Given the description of an element on the screen output the (x, y) to click on. 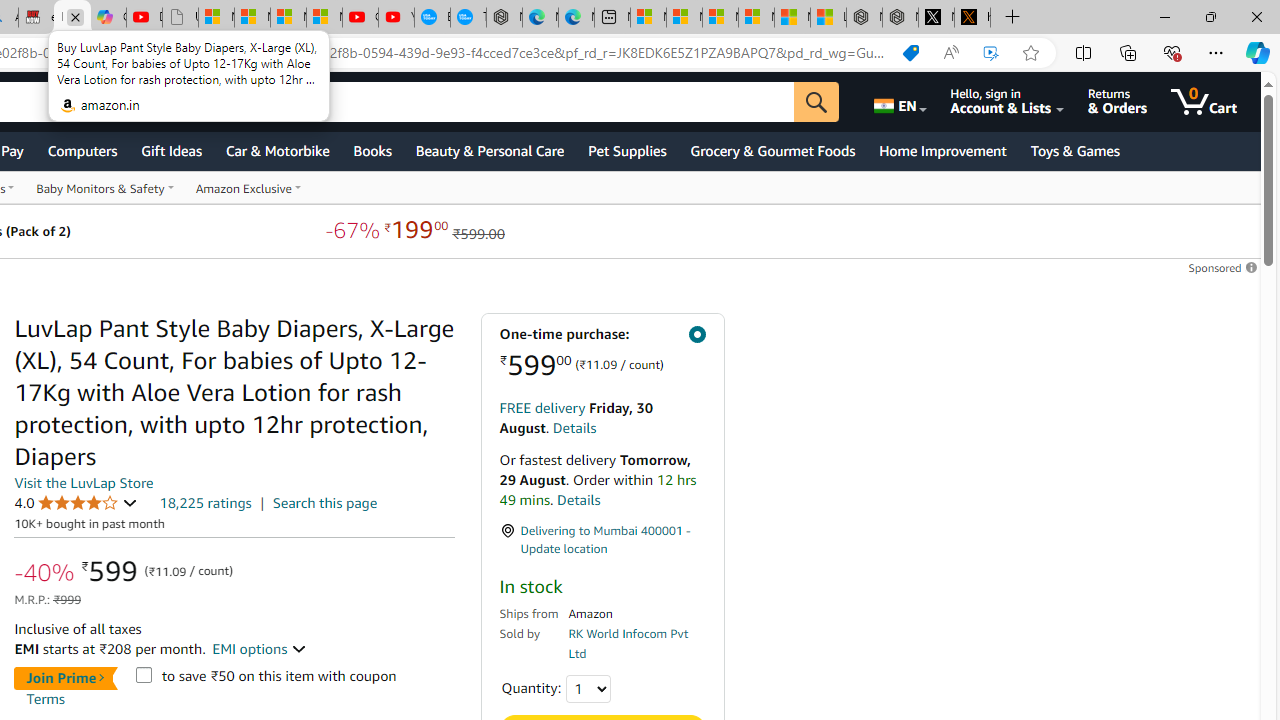
Copilot (107, 17)
Nordace - Nordace has arrived Hong Kong (504, 17)
YouTube Kids - An App Created for Kids to Explore Content (395, 17)
Enhance video (991, 53)
The most popular Google 'how to' searches (468, 17)
Untitled (180, 17)
